Given the description of an element on the screen output the (x, y) to click on. 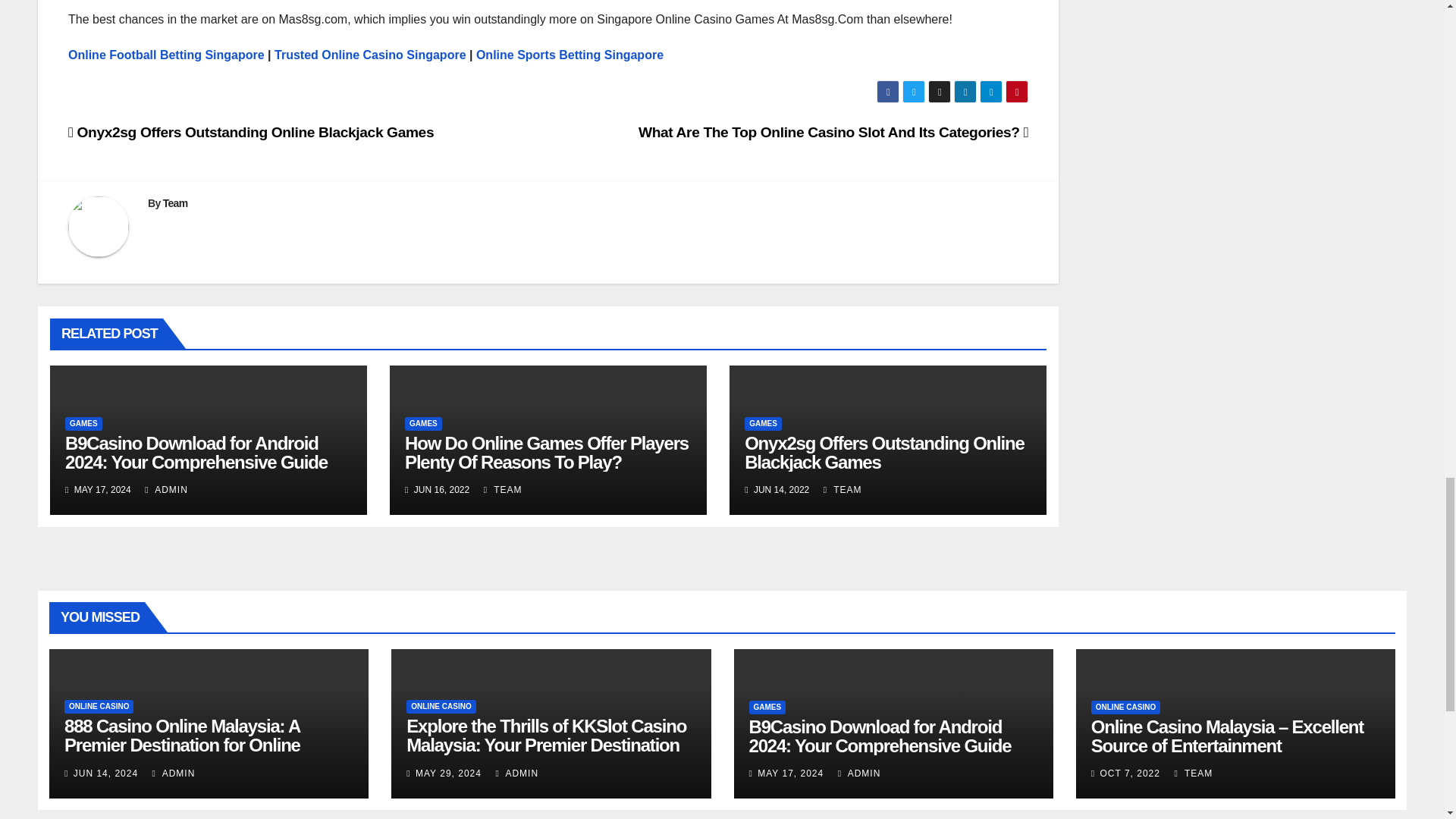
GAMES (83, 423)
Onyx2sg Offers Outstanding Online Blackjack Games (250, 132)
Team (175, 203)
Online Football Betting Singapore (166, 54)
Online Sports Betting Singapore (569, 54)
